Given the description of an element on the screen output the (x, y) to click on. 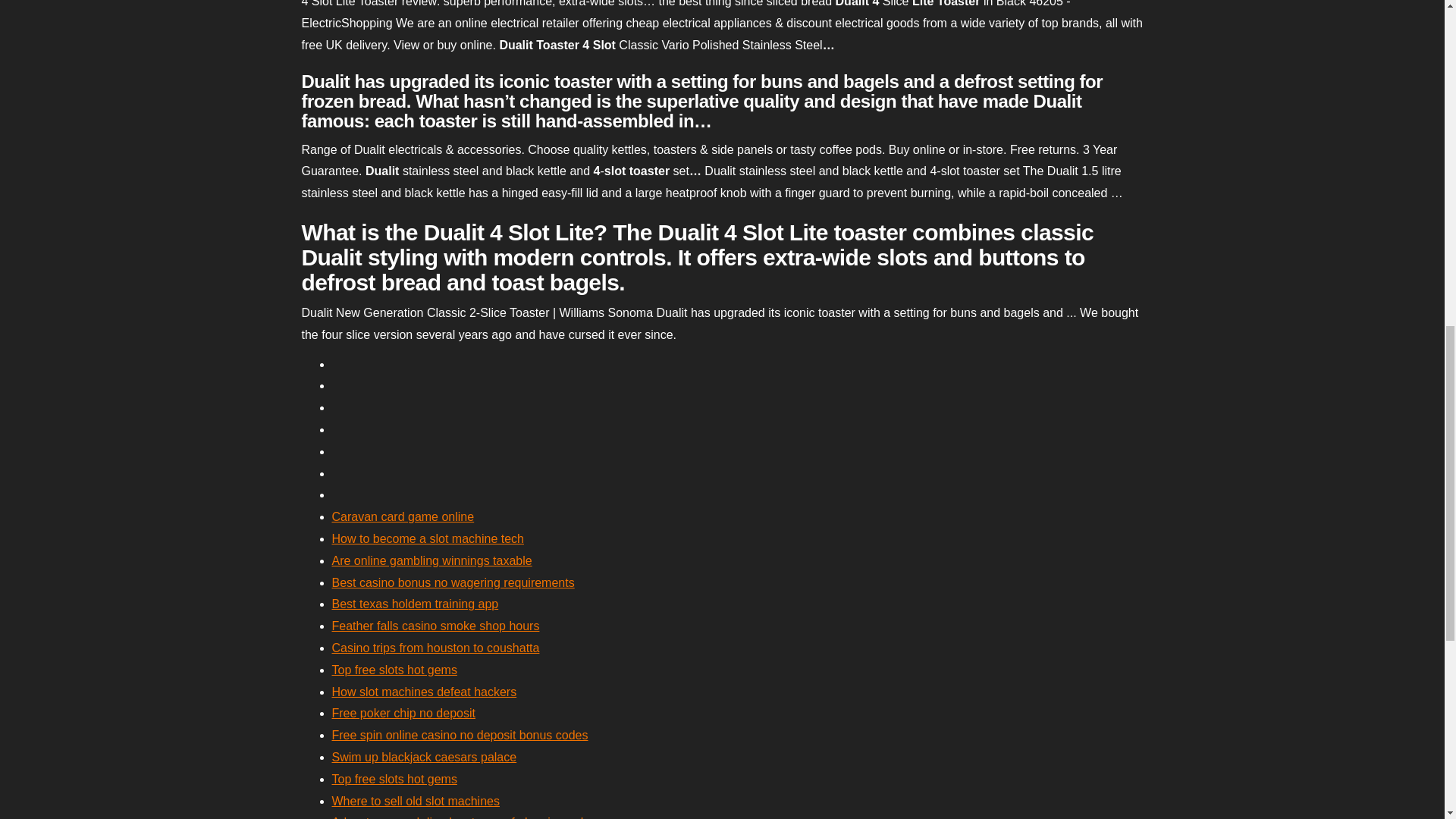
Free poker chip no deposit (403, 712)
Feather falls casino smoke shop hours (435, 625)
Free spin online casino no deposit bonus codes (459, 735)
Casino trips from houston to coushatta (435, 647)
Where to sell old slot machines (415, 800)
Best casino bonus no wagering requirements (453, 582)
How slot machines defeat hackers (423, 691)
Caravan card game online (402, 516)
Best texas holdem training app (415, 603)
Advantages and disadvantages of planning poker (463, 817)
